Given the description of an element on the screen output the (x, y) to click on. 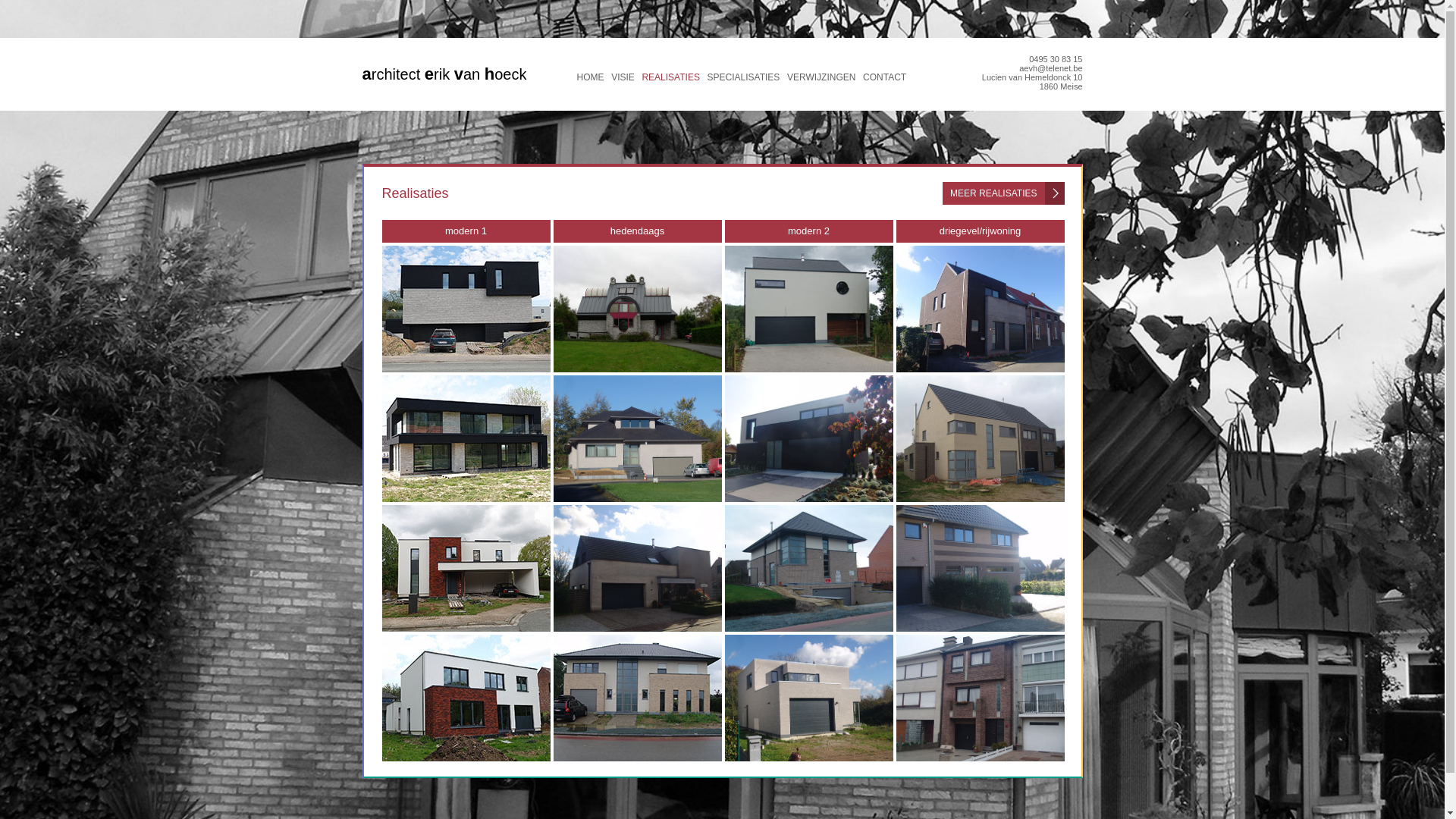
VISIE Element type: text (622, 77)
MEER REALISATIES Element type: text (1002, 193)
HOME Element type: text (589, 77)
REALISATIES Element type: text (670, 77)
SPECIALISATIES Element type: text (743, 77)
CONTACT Element type: text (884, 77)
VERWIJZINGEN Element type: text (821, 77)
aevh@telenet.be Element type: text (1050, 67)
